Given the description of an element on the screen output the (x, y) to click on. 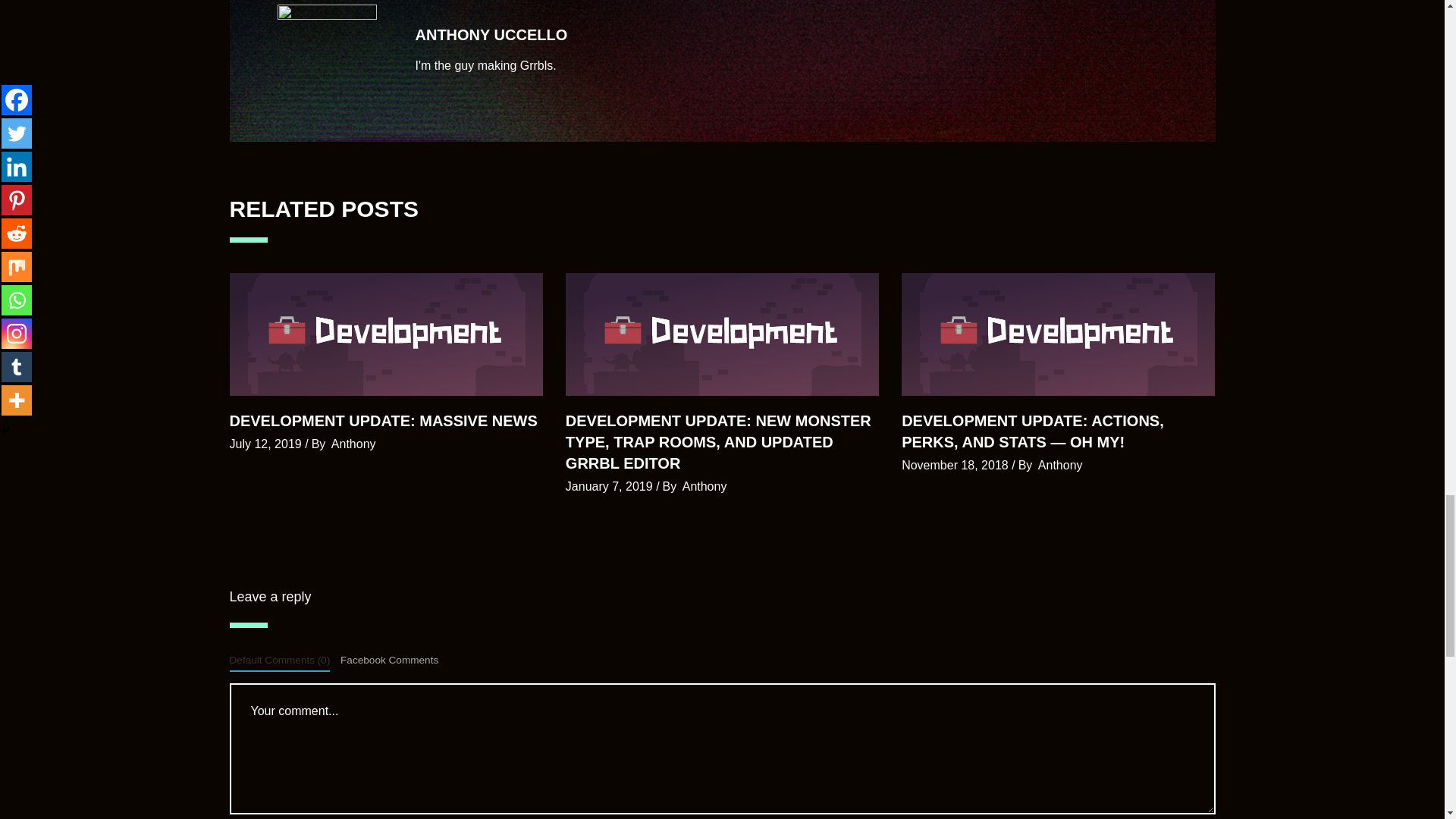
What Makes A Good Loot Game? (490, 34)
What Makes A Good Loot Game? (327, 54)
